Given the description of an element on the screen output the (x, y) to click on. 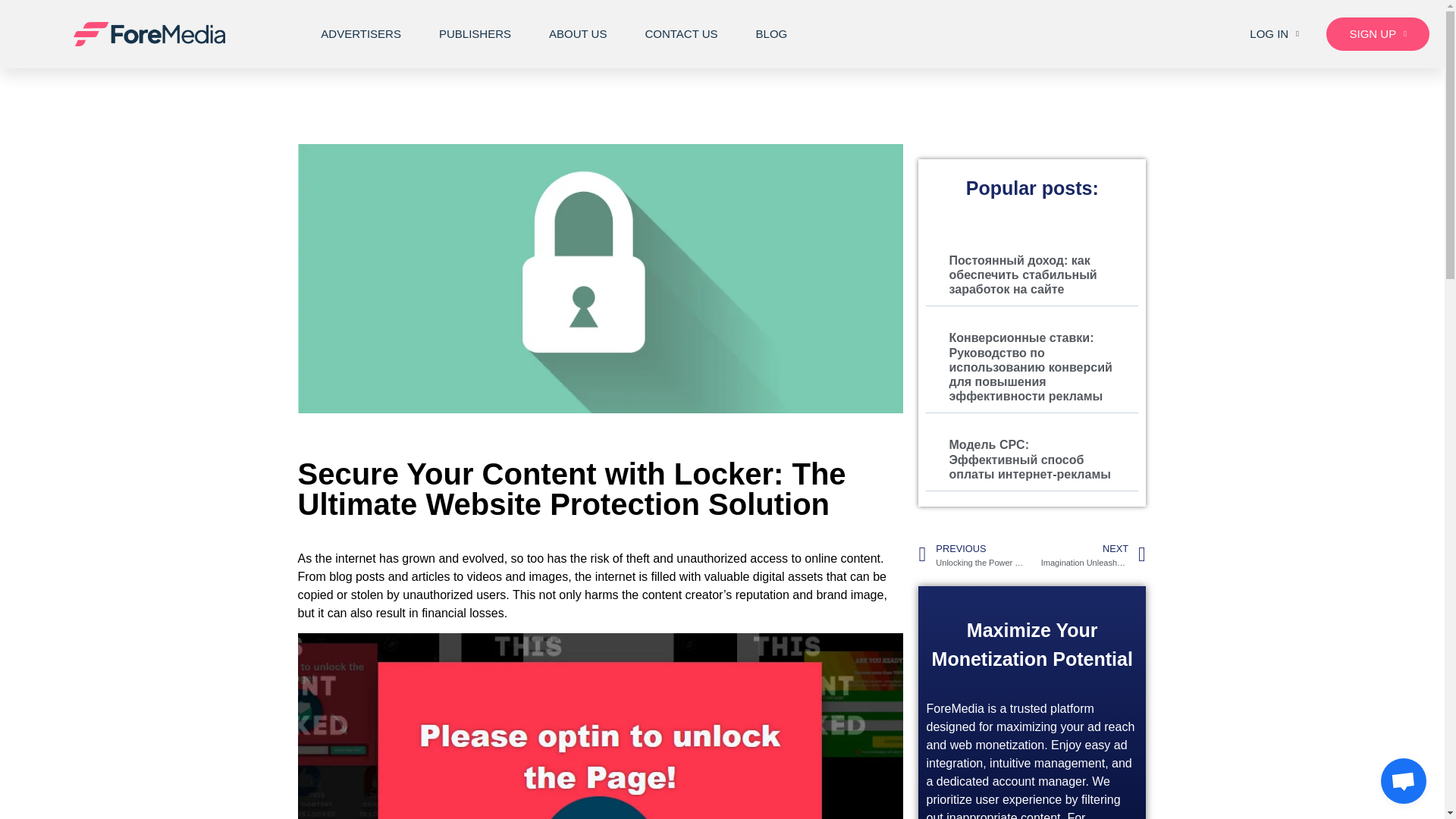
CONTACT US (681, 33)
LOG IN (1274, 33)
PUBLISHERS (475, 33)
SIGN UP (1377, 33)
ADVERTISERS (360, 33)
